Given the description of an element on the screen output the (x, y) to click on. 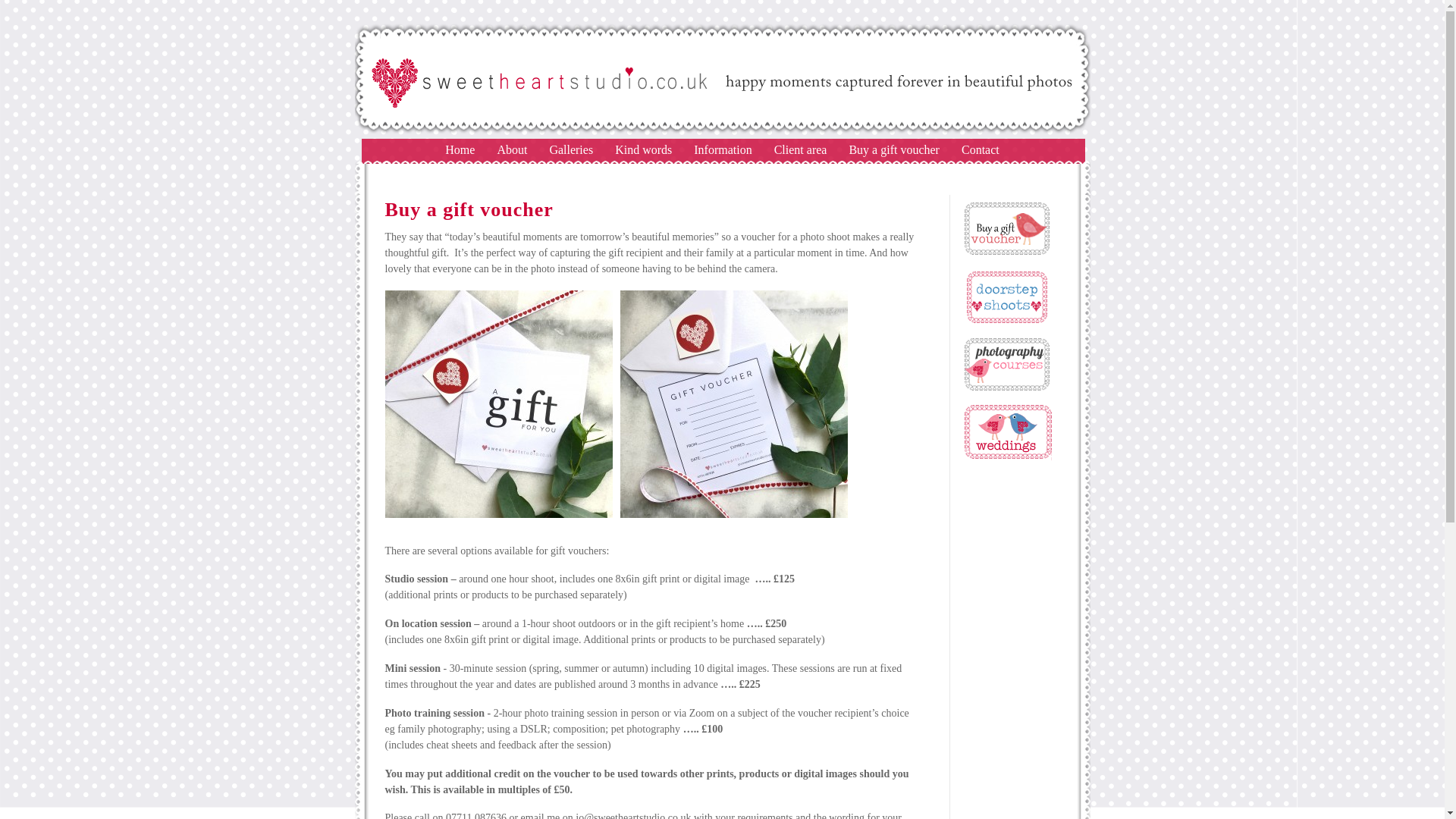
Buy a gift voucher (893, 150)
Kind words (642, 150)
Sweetheart Studio (459, 150)
Contact (979, 150)
About (511, 150)
Information (722, 150)
Galleries (570, 150)
Client area (800, 150)
Home (459, 150)
Sweetheart Studio (722, 132)
